Given the description of an element on the screen output the (x, y) to click on. 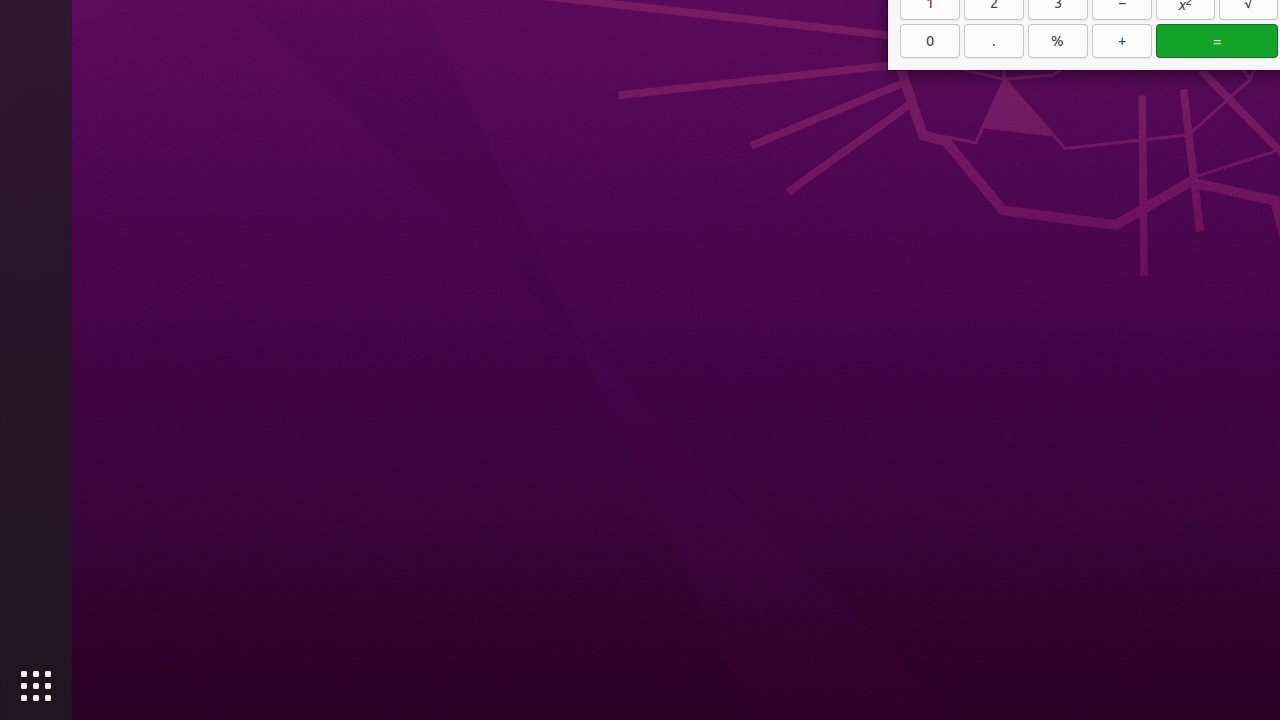
= Element type: push-button (1217, 41)
